Given the description of an element on the screen output the (x, y) to click on. 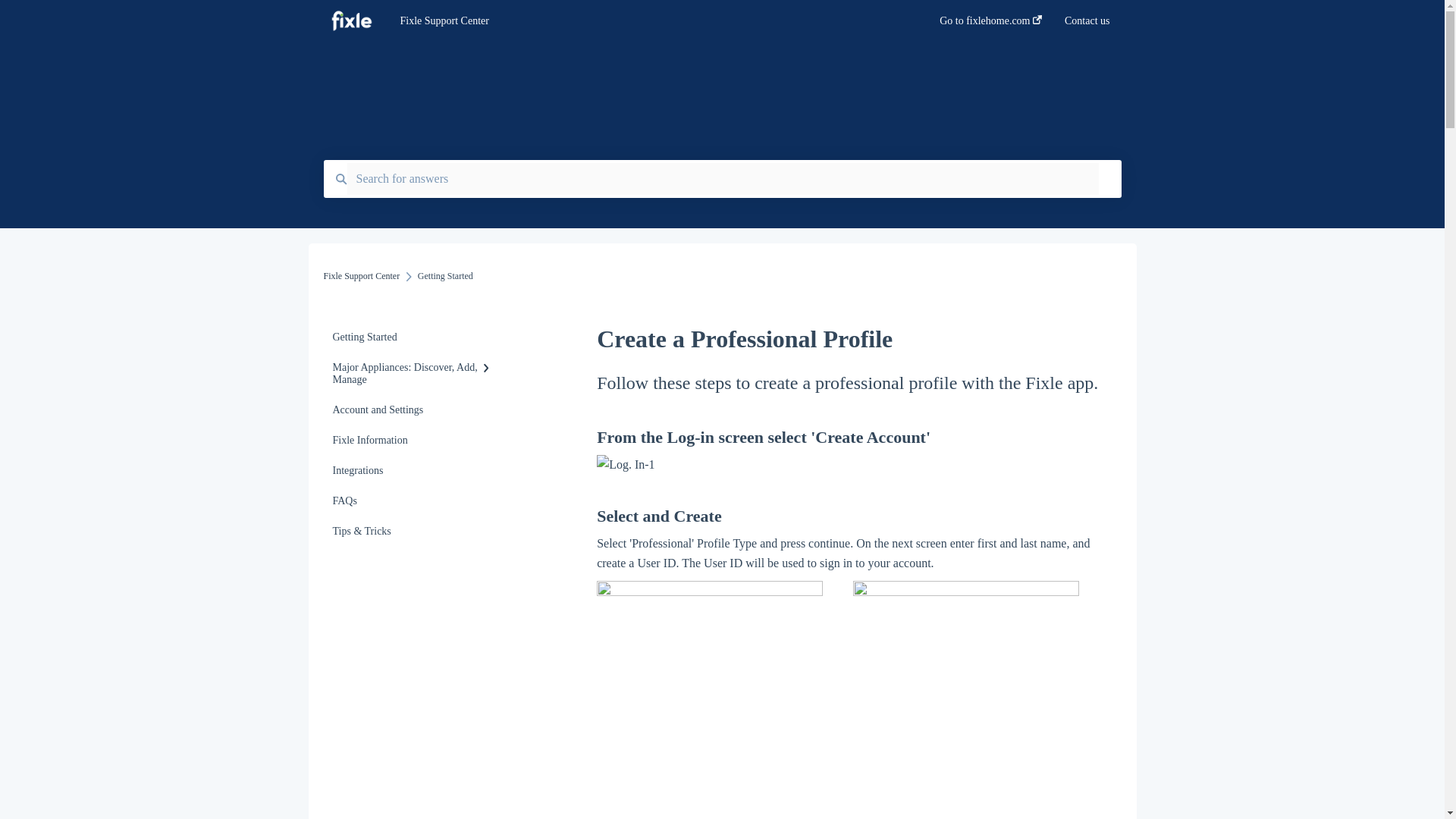
Contact us (1086, 25)
FAQs (414, 501)
Fixle Support Center (645, 21)
Account and Settings (414, 409)
Go to fixlehome.com (990, 25)
Major Appliances: Discover, Add, Manage (414, 373)
Getting Started (414, 337)
Integrations (414, 470)
Fixle Support Center (360, 276)
Fixle Information (414, 440)
